Given the description of an element on the screen output the (x, y) to click on. 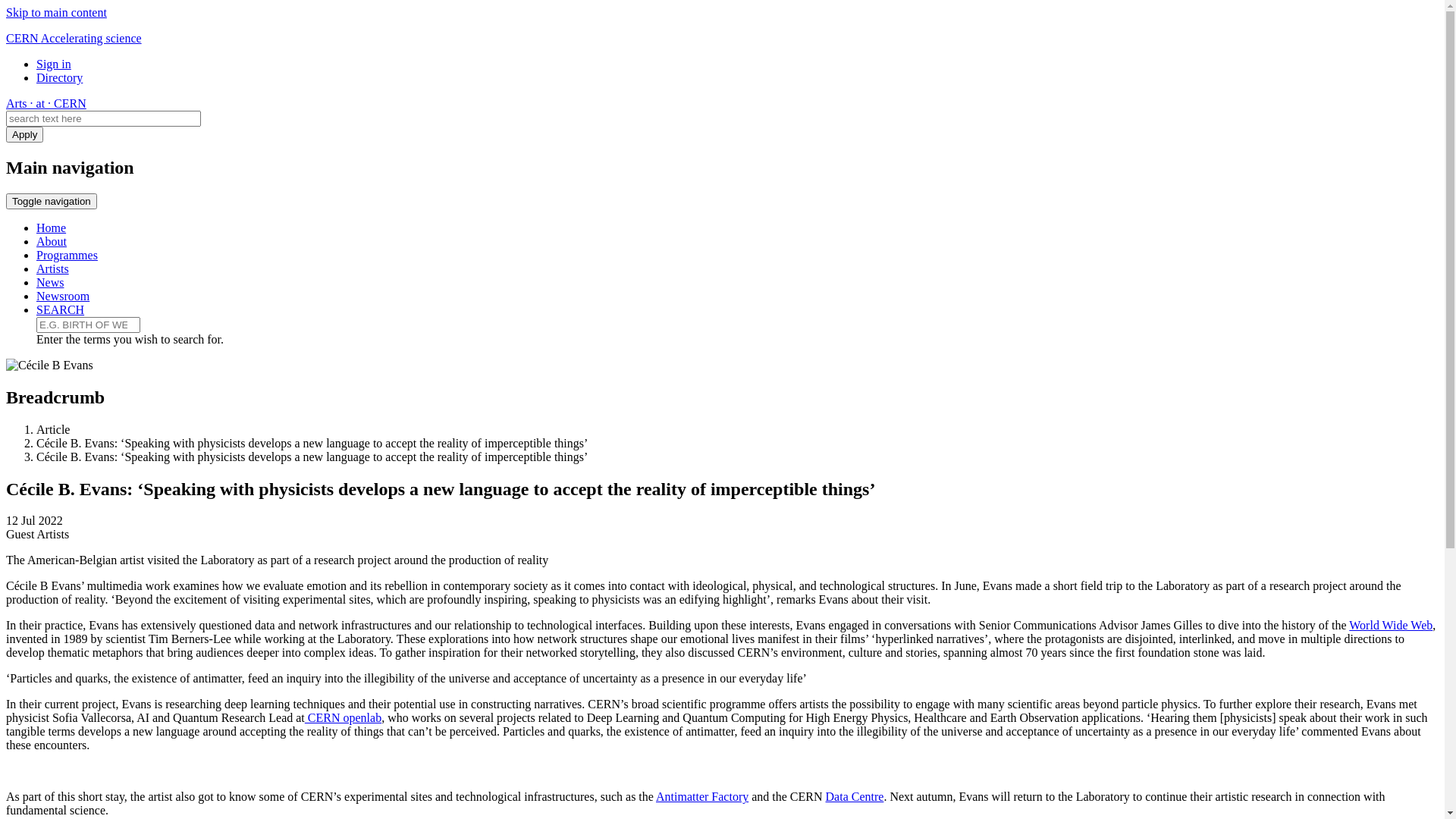
Programmes Element type: text (66, 254)
Home Element type: text (50, 227)
 CERN openlab Element type: text (342, 717)
Toggle navigation Element type: text (51, 201)
Antimatter Factory Element type: text (701, 796)
Sign in Element type: text (53, 63)
Enter the terms you wish to search for. Element type: hover (88, 324)
World Wide Web Element type: text (1390, 624)
Newsroom Element type: text (62, 295)
Skip to main content Element type: text (56, 12)
About Element type: text (51, 241)
News Element type: text (49, 282)
Directory Element type: text (59, 77)
SEARCH Element type: text (60, 309)
Artists Element type: text (52, 268)
Apply Element type: text (24, 134)
CERN Accelerating science Element type: text (73, 37)
Data Centre Element type: text (854, 796)
